Given the description of an element on the screen output the (x, y) to click on. 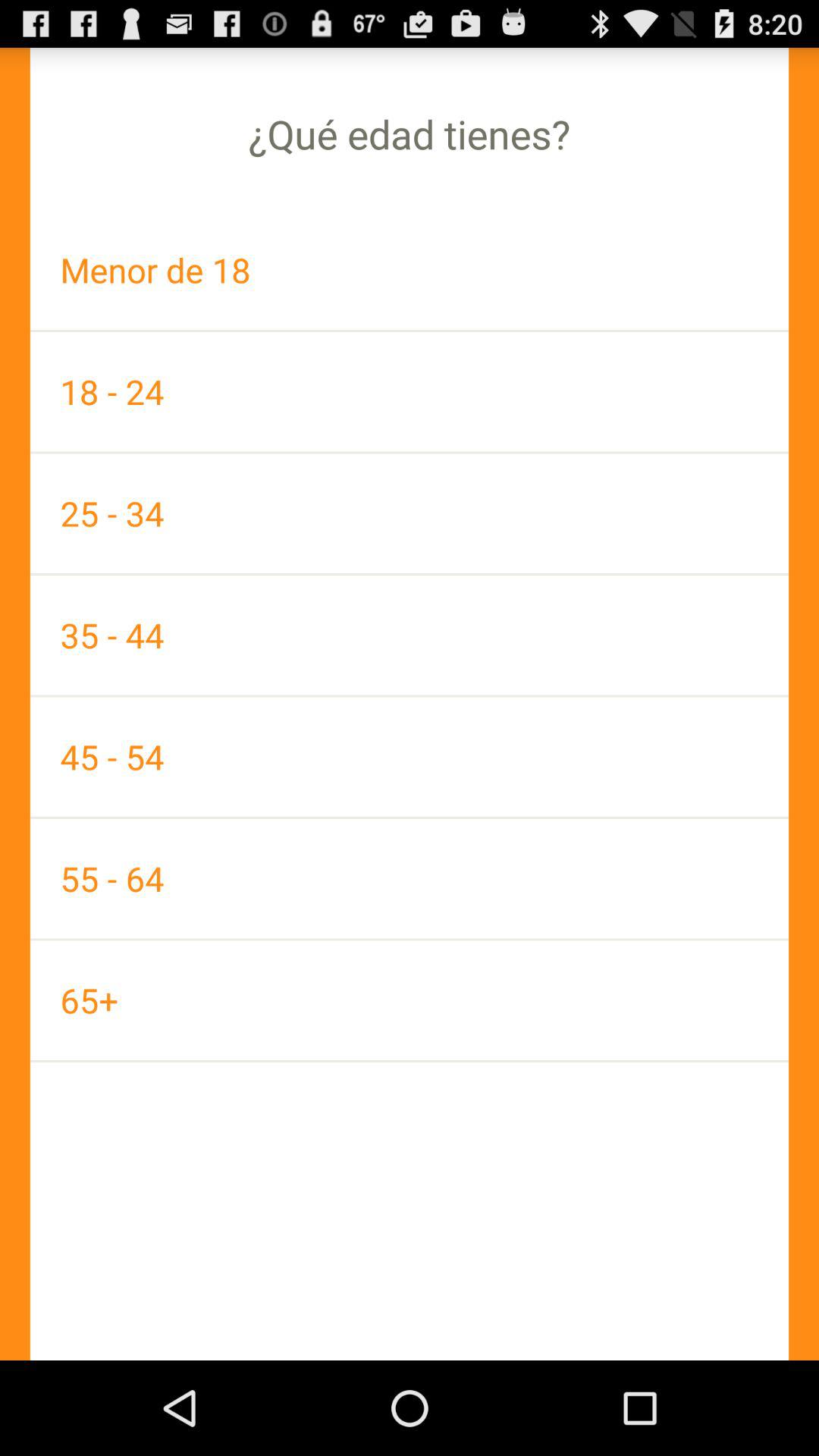
turn on app above 18 - 24 item (409, 269)
